Given the description of an element on the screen output the (x, y) to click on. 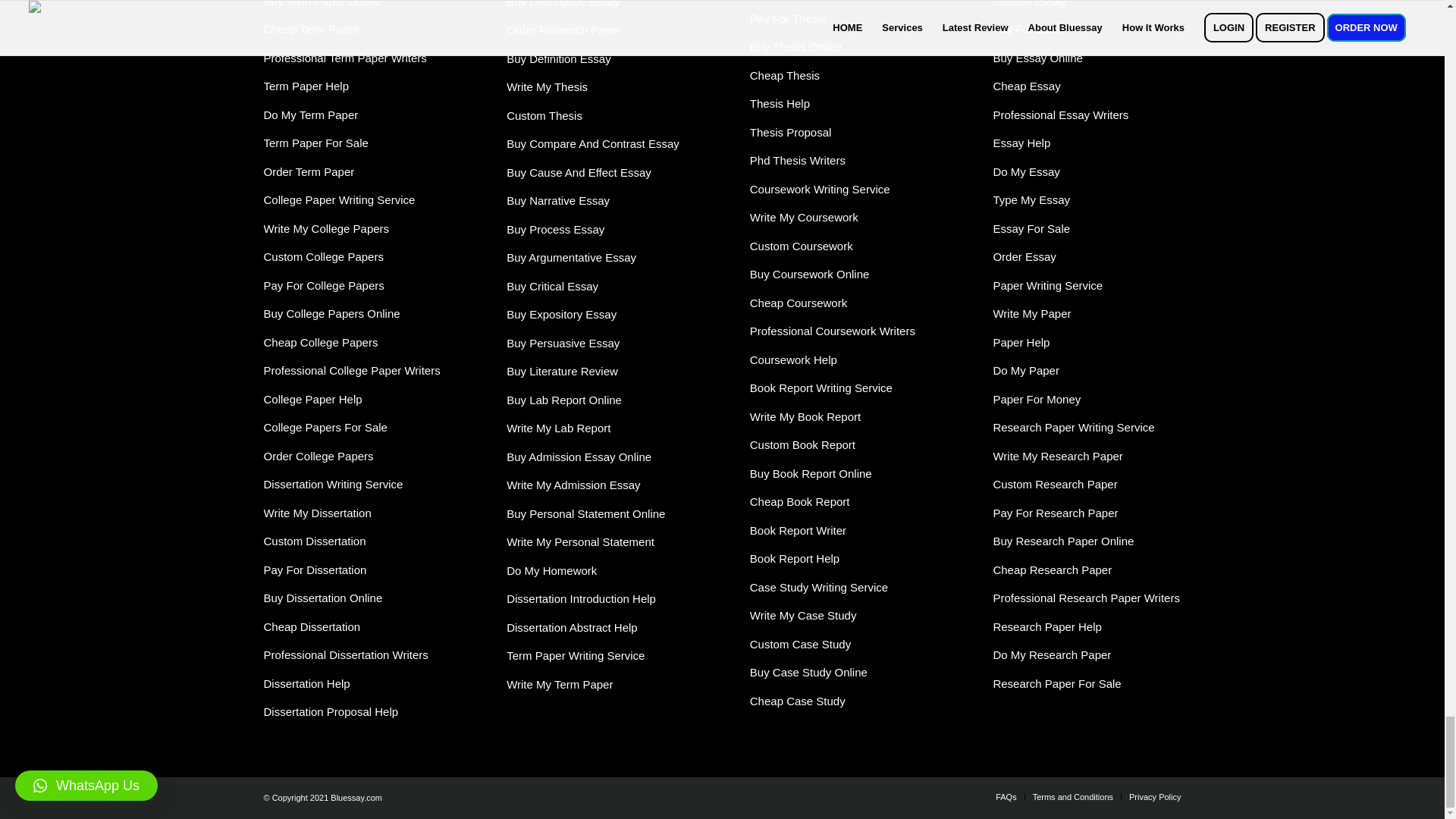
Buy Term Paper Online (322, 3)
Cheap Term Paper (311, 29)
Order Term Paper (309, 171)
Term Paper For Sale (315, 142)
Professional Term Paper Writers (344, 57)
Do My Term Paper (310, 114)
Term Paper Help (306, 85)
